Given the description of an element on the screen output the (x, y) to click on. 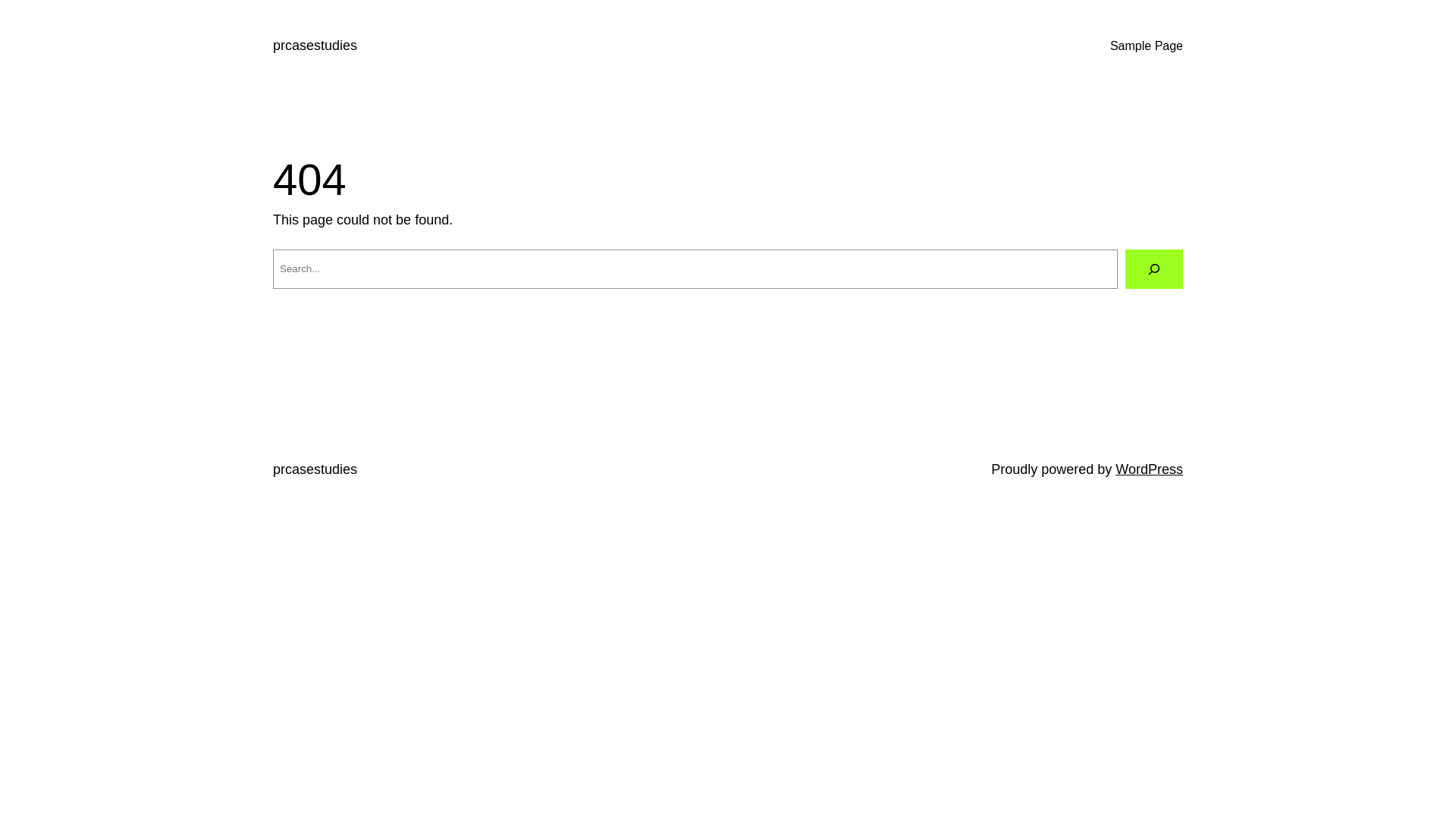
Sample Page Element type: text (1146, 46)
prcasestudies Element type: text (315, 45)
prcasestudies Element type: text (315, 468)
WordPress Element type: text (1149, 468)
